Given the description of an element on the screen output the (x, y) to click on. 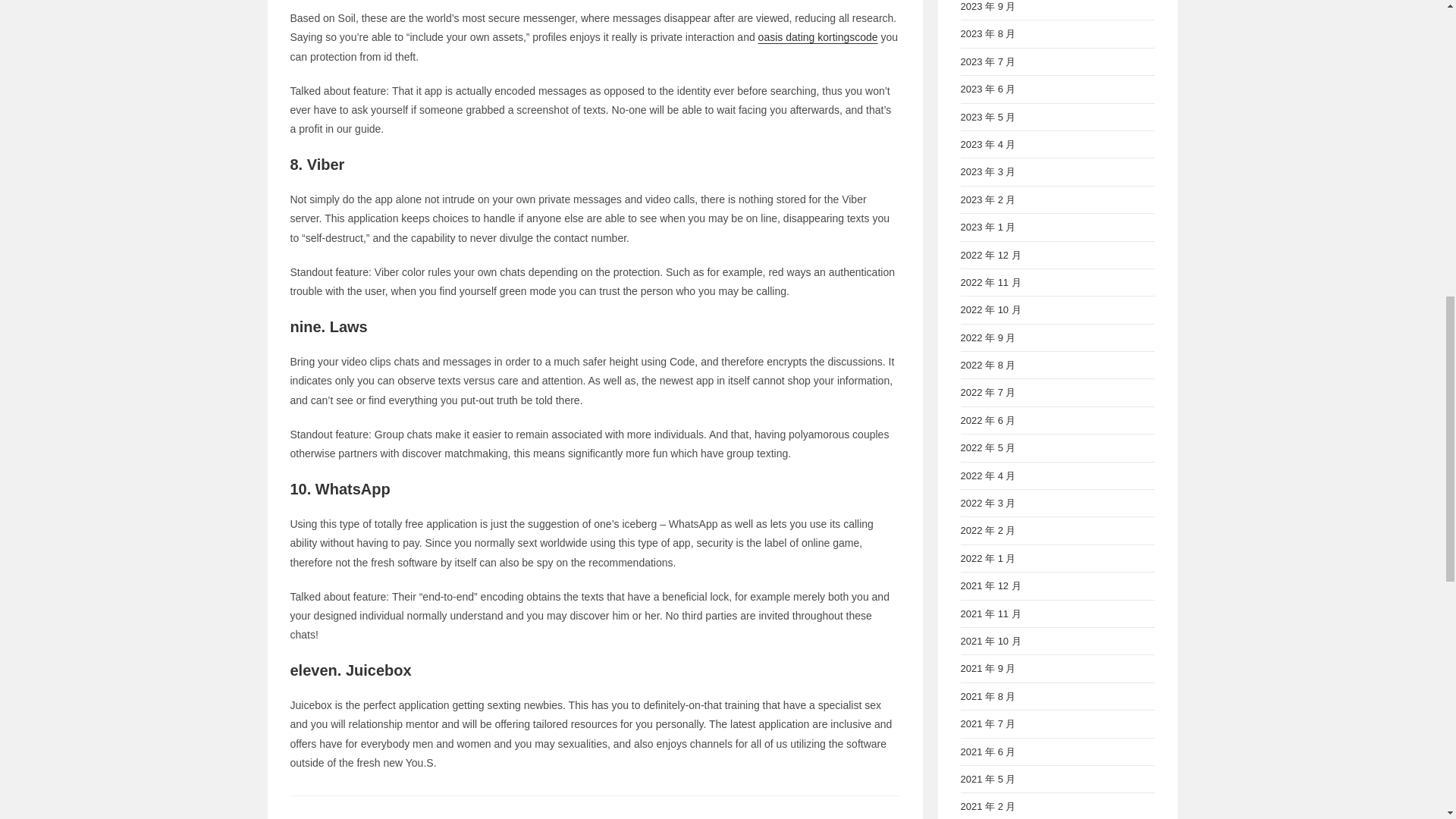
oasis dating kortingscode (817, 37)
